Given the description of an element on the screen output the (x, y) to click on. 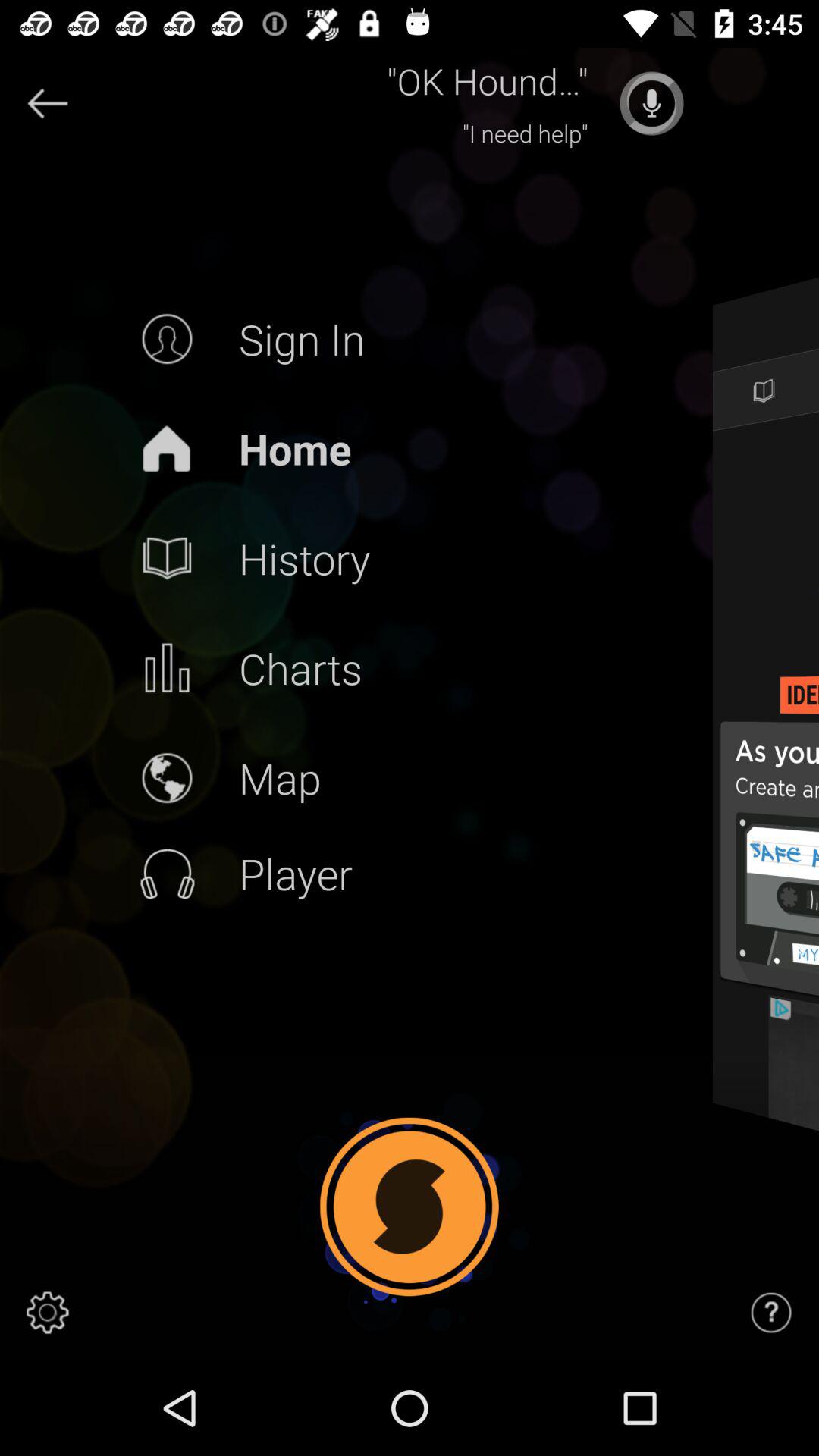
help (771, 1312)
